Given the description of an element on the screen output the (x, y) to click on. 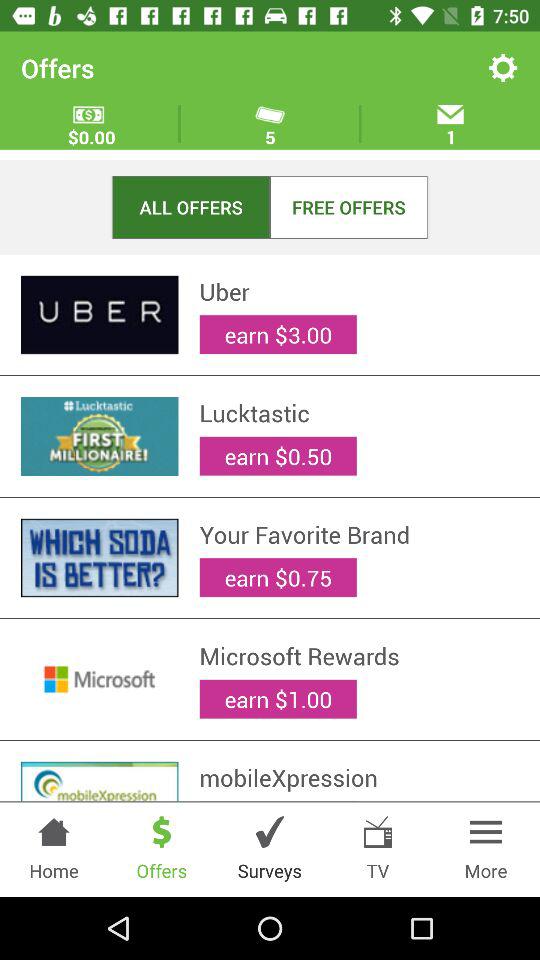
scroll until the your favorite brand icon (359, 534)
